Given the description of an element on the screen output the (x, y) to click on. 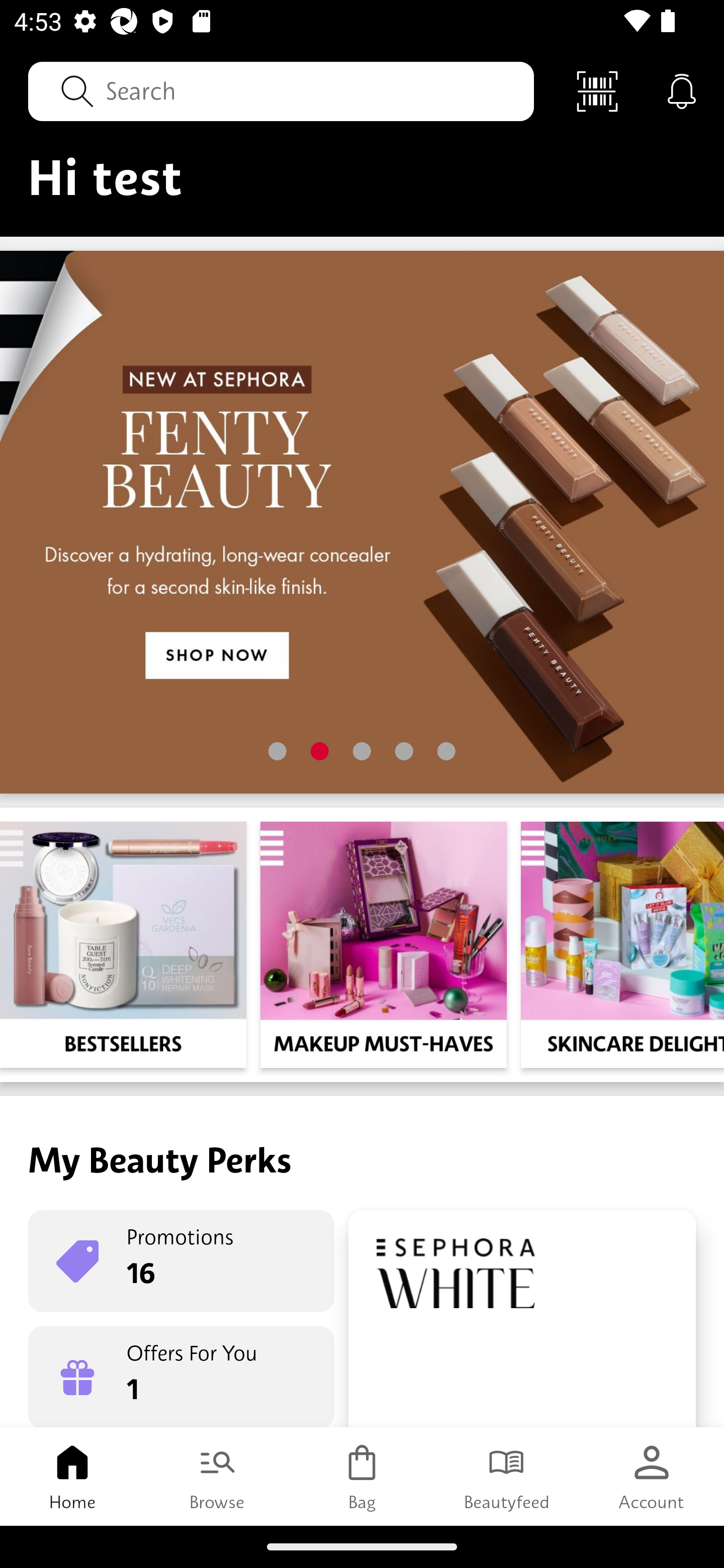
Scan Code (597, 90)
Notifications (681, 90)
Search (281, 90)
Promotions 16 (181, 1261)
Rewards Boutique 90 Pts (521, 1318)
Offers For You 1 (181, 1376)
Browse (216, 1475)
Bag (361, 1475)
Beautyfeed (506, 1475)
Account (651, 1475)
